Given the description of an element on the screen output the (x, y) to click on. 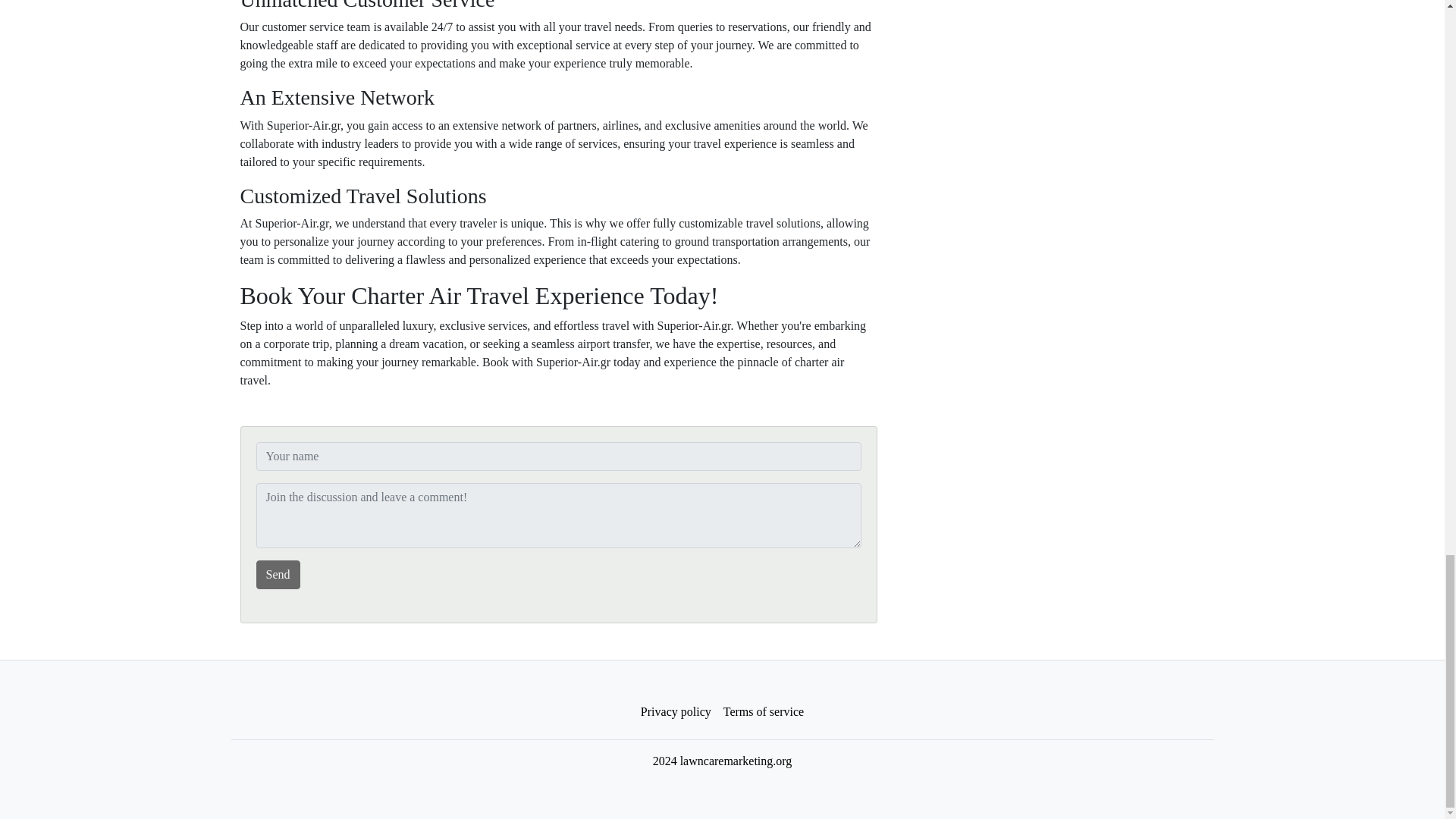
Terms of service (763, 711)
Privacy policy (675, 711)
Send (277, 574)
Send (277, 574)
